Given the description of an element on the screen output the (x, y) to click on. 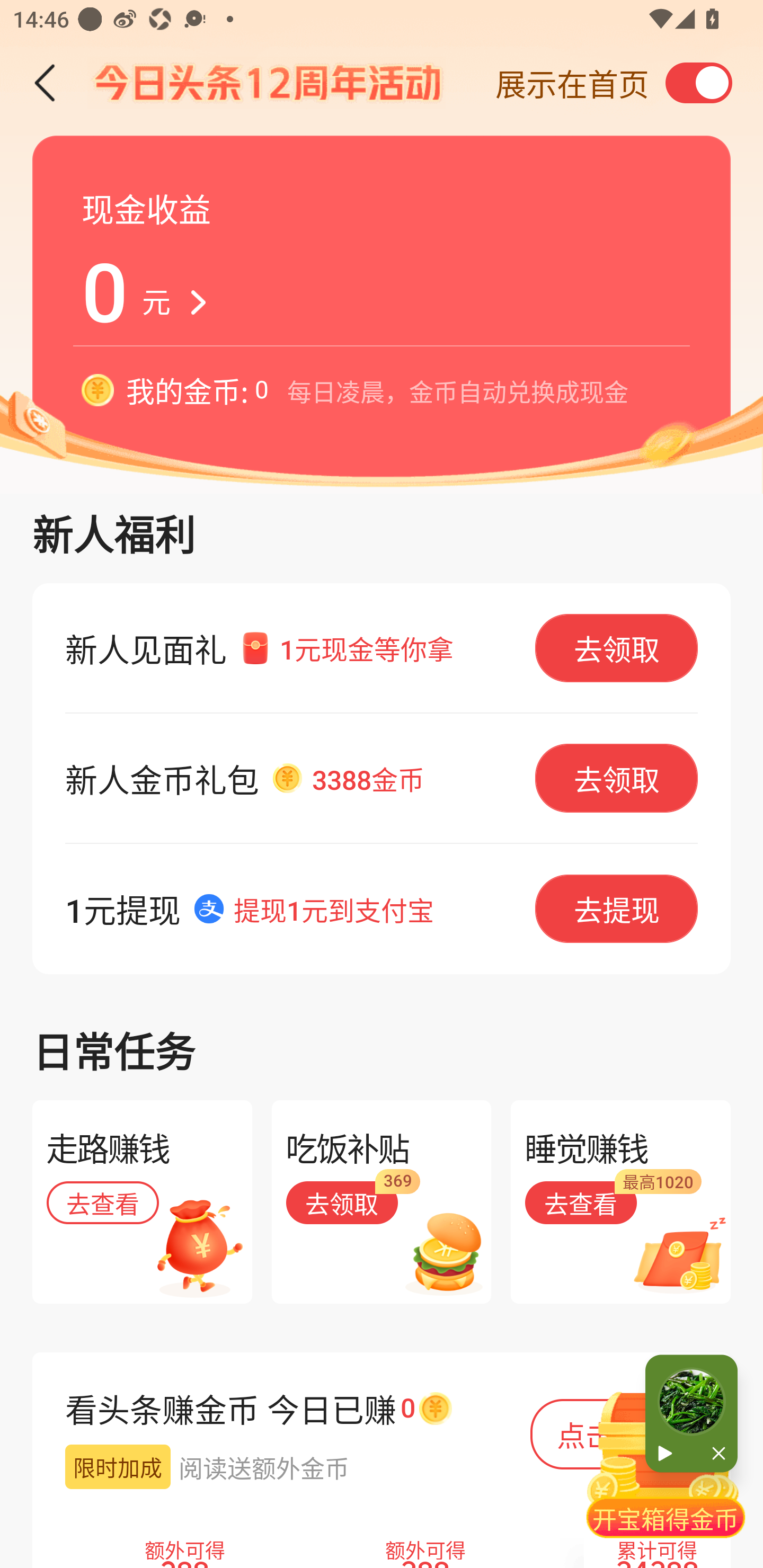
当前进度 0% (691, 1401)
播放 (668, 1454)
关闭 (714, 1454)
